Given the description of an element on the screen output the (x, y) to click on. 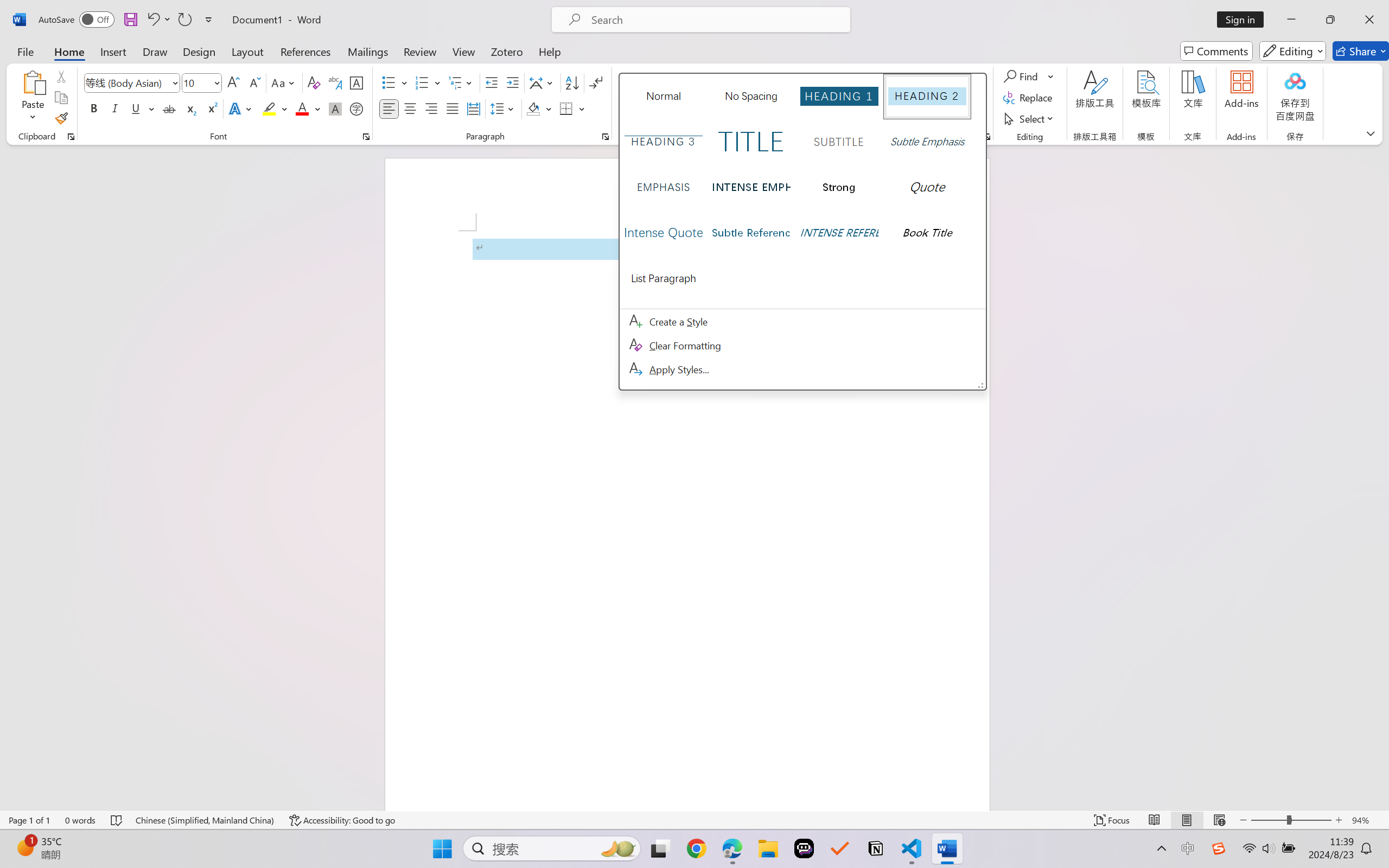
Editing (1292, 50)
